Given the description of an element on the screen output the (x, y) to click on. 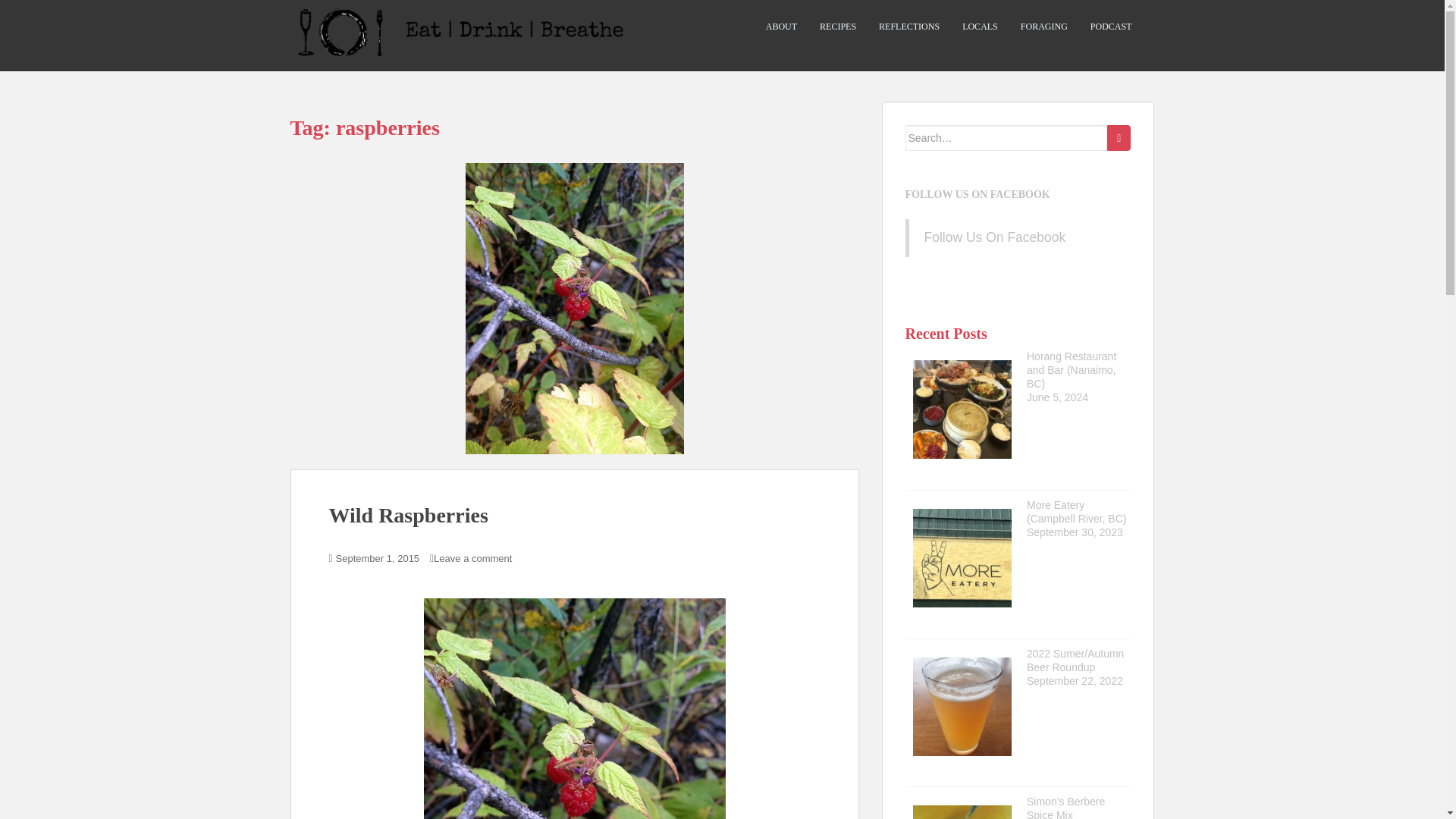
Follow Us On Facebook (994, 237)
FORAGING (1043, 26)
RECIPES (837, 26)
Search for: (1006, 137)
ABOUT (780, 26)
Wild Raspberries (408, 515)
Leave a comment (472, 558)
Search (1118, 137)
LOCALS (979, 26)
PODCAST (1111, 26)
September 1, 2015 (378, 558)
REFLECTIONS (909, 26)
FOLLOW US ON FACEBOOK (977, 194)
